Given the description of an element on the screen output the (x, y) to click on. 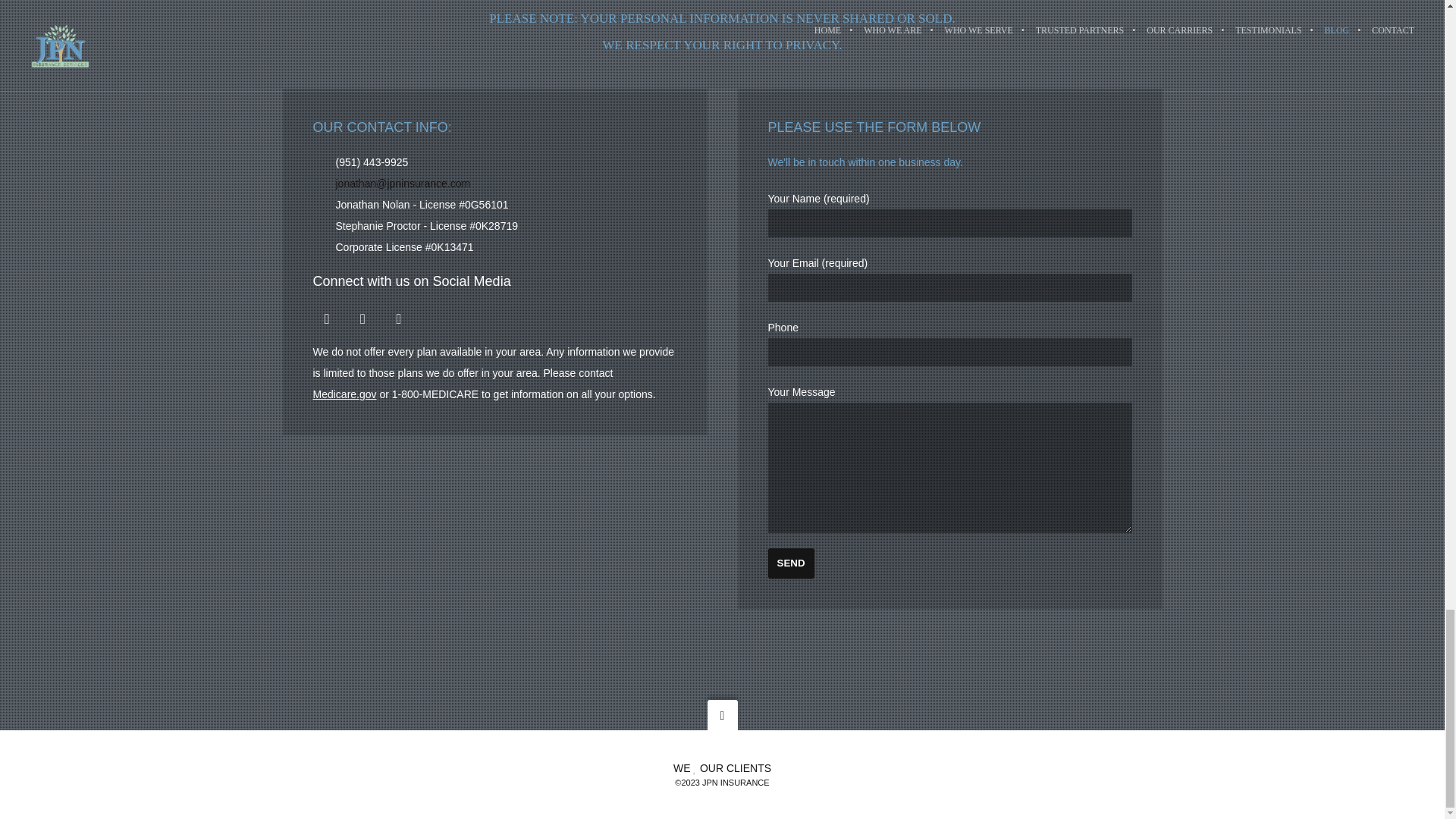
Send (790, 562)
Medicare.gov (344, 394)
Send (790, 562)
